Given the description of an element on the screen output the (x, y) to click on. 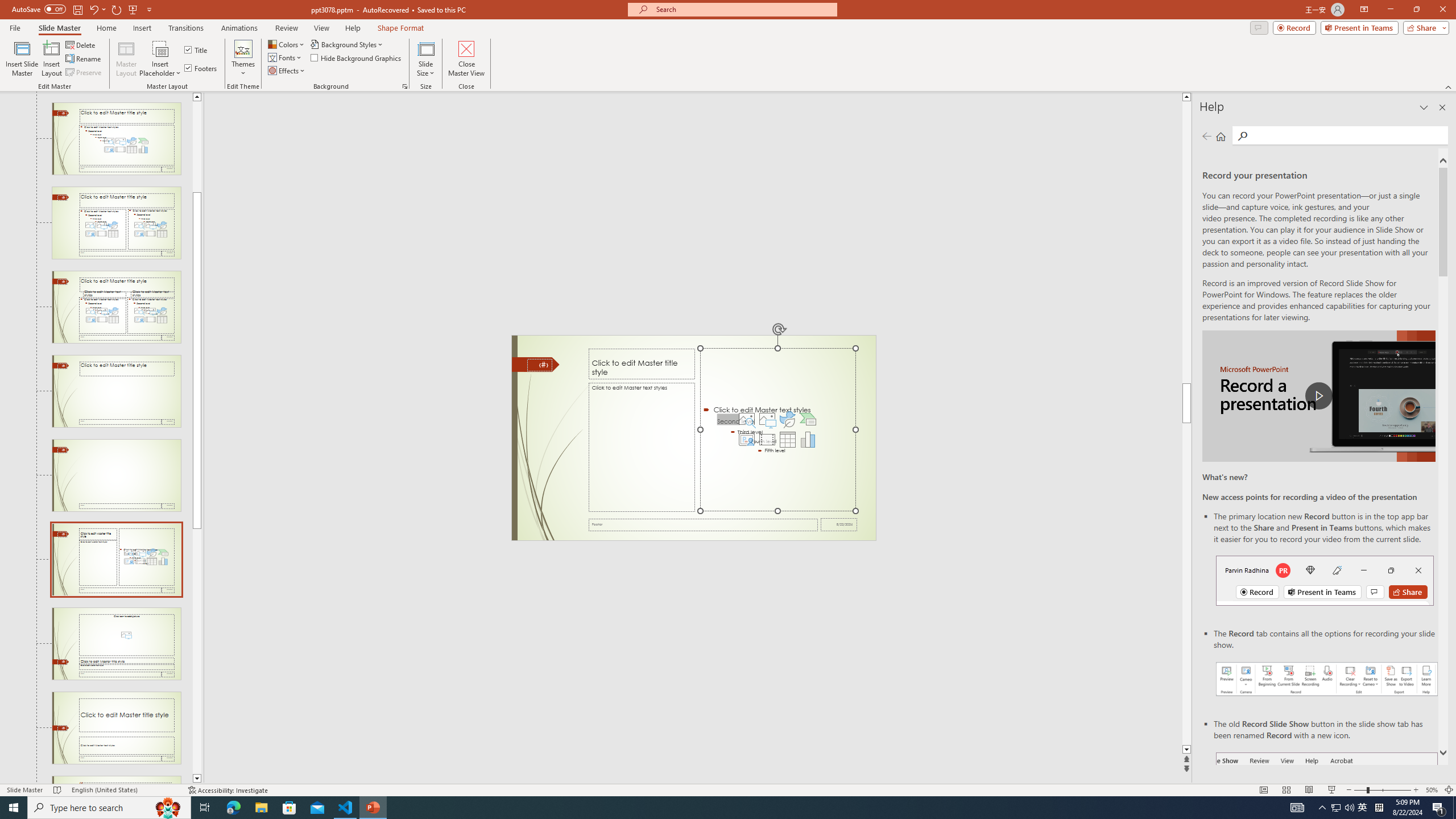
Insert Placeholder (160, 58)
Background Styles (347, 44)
Customize Quick Access Toolbar (149, 9)
Record your presentations screenshot one (1326, 678)
Slide Show (1331, 790)
Format Background... (404, 85)
Page up (197, 146)
Freeform 11 (535, 364)
Zoom to Fit  (1449, 790)
Page down (197, 651)
Insert Video (767, 439)
System (6, 6)
Close pane (1441, 107)
Help (352, 28)
Insert Table (787, 439)
